Given the description of an element on the screen output the (x, y) to click on. 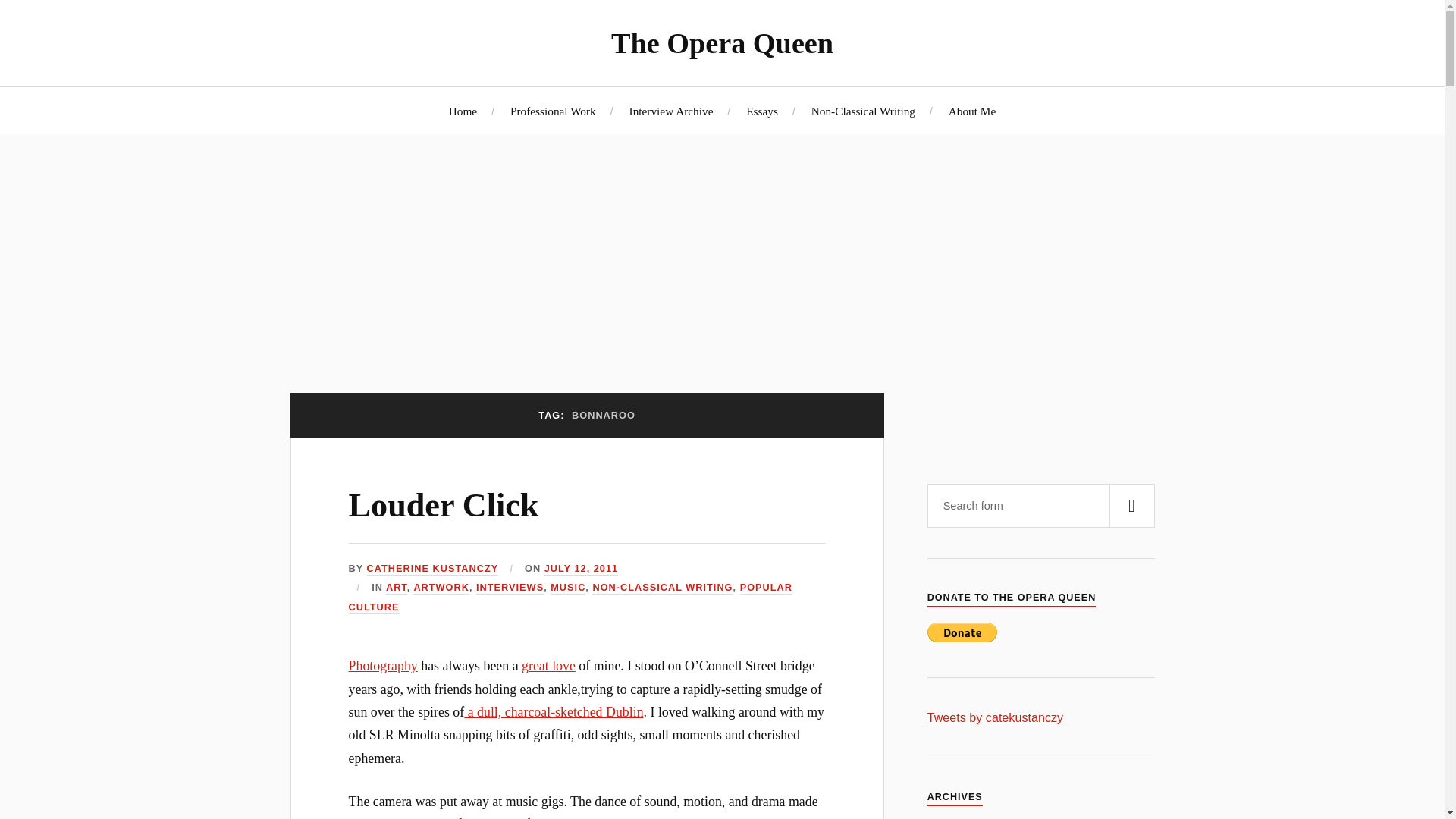
ARTWORK (440, 587)
Non-Classical Writing (862, 110)
ART (396, 587)
NON-CLASSICAL WRITING (662, 587)
PayPal - The safer, easier way to pay online! (962, 632)
a dull, charcoal-sketched Dublin (553, 711)
CATHERINE KUSTANCZY (432, 568)
Interview Archive (670, 110)
Louder Click (443, 505)
The Opera Queen (721, 42)
